Given the description of an element on the screen output the (x, y) to click on. 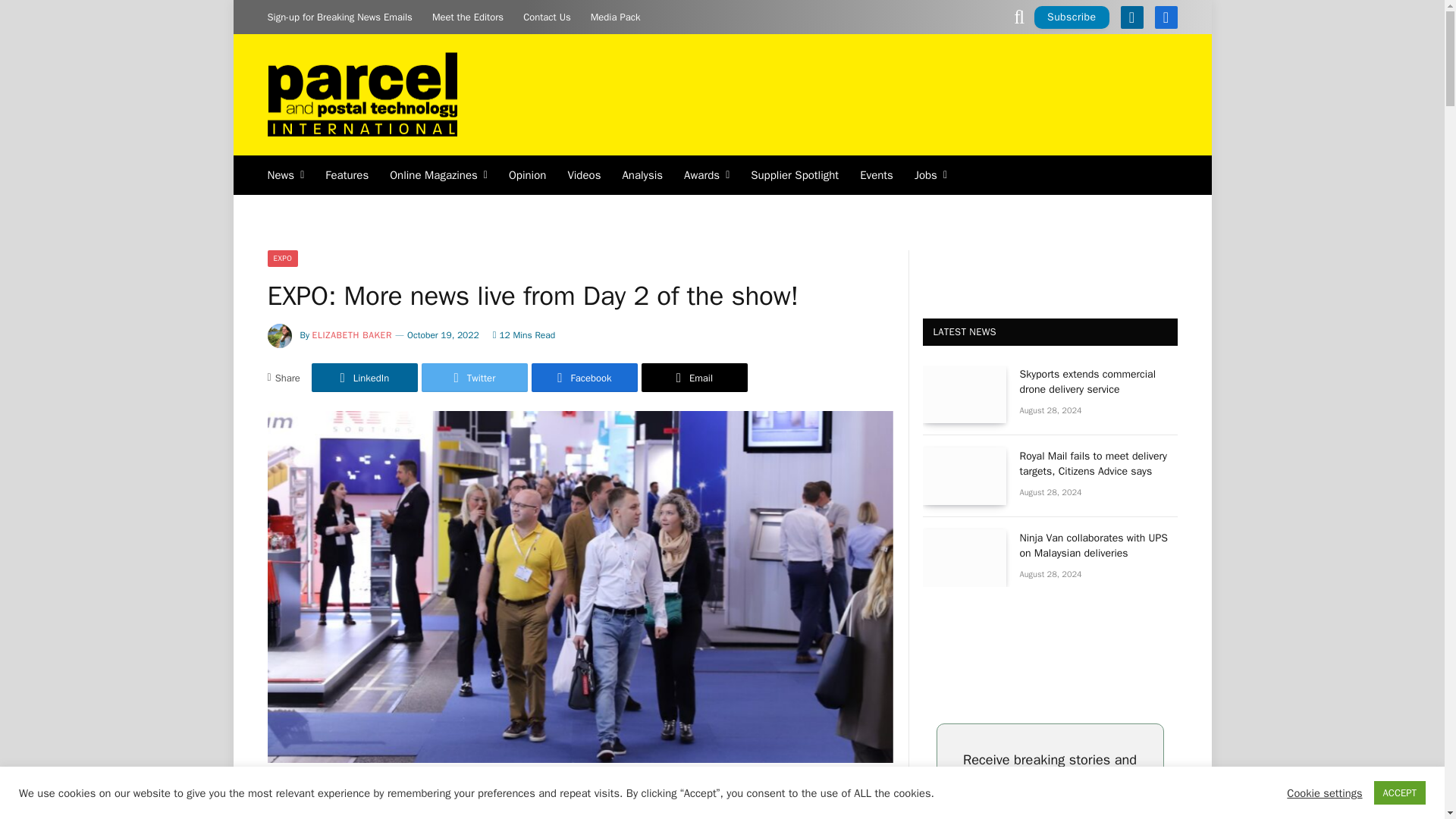
Share on Twitter (474, 377)
Parcel and Postal Technology International (361, 95)
Share via Email (695, 377)
Share on Facebook (584, 377)
Share on LinkedIn (364, 377)
Posts by Elizabeth Baker (352, 335)
